Given the description of an element on the screen output the (x, y) to click on. 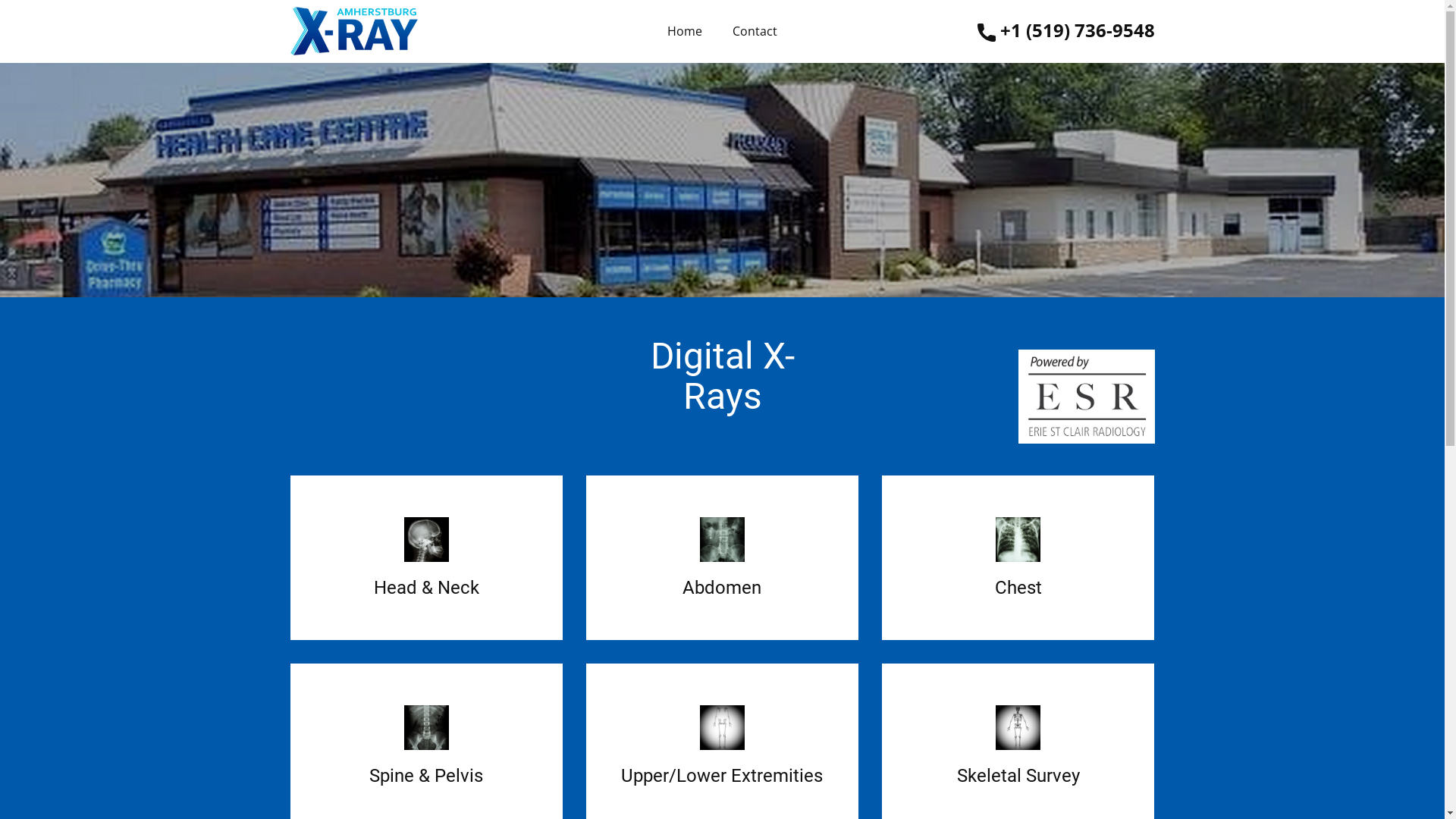
Contact Element type: text (754, 30)
Home Element type: text (684, 30)
 +1 (519) 736-9548 Element type: text (1065, 31)
